Given the description of an element on the screen output the (x, y) to click on. 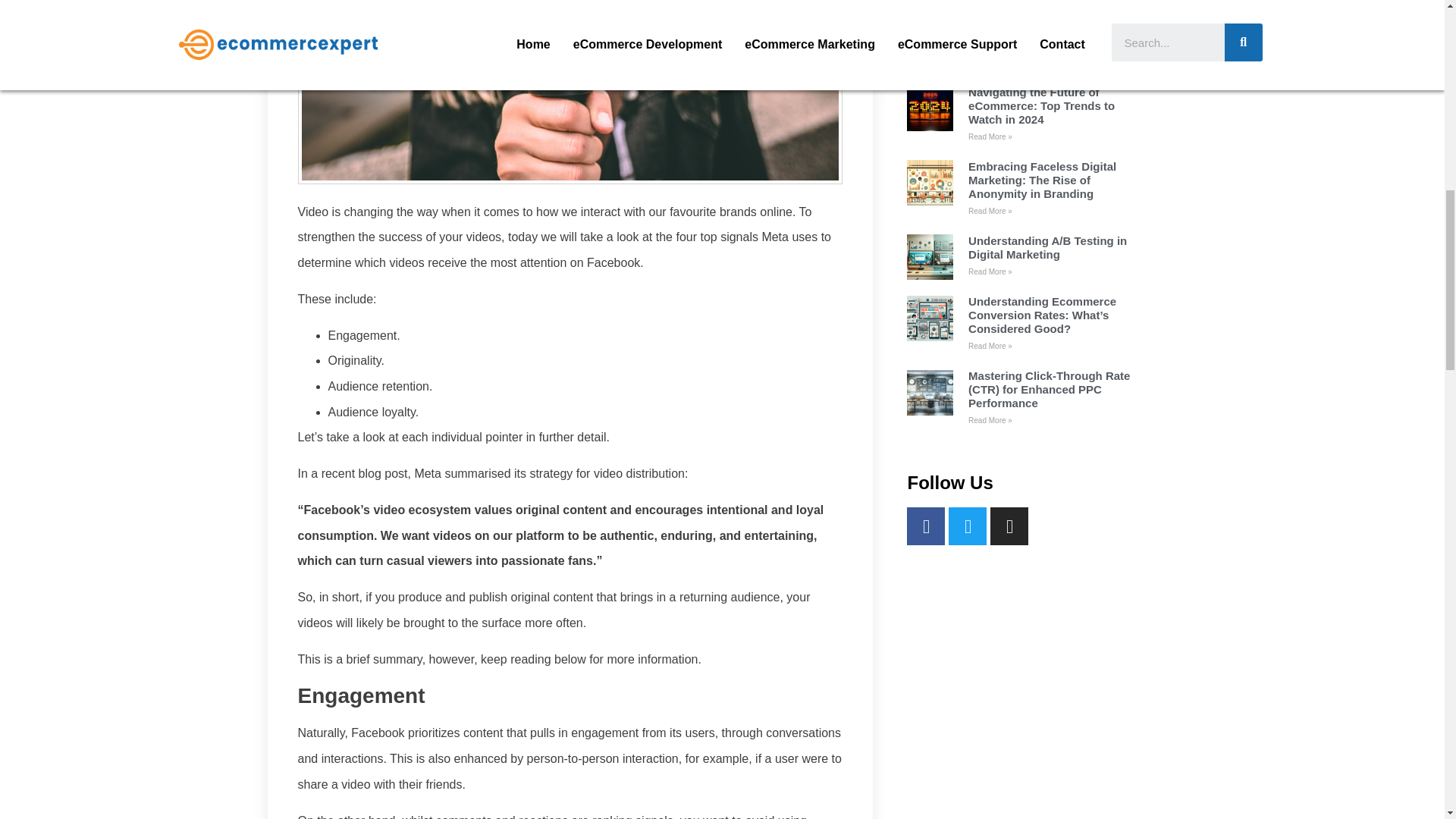
The Ultimate Guide to Setting Up Your eCommerce Store (1047, 37)
